Given the description of an element on the screen output the (x, y) to click on. 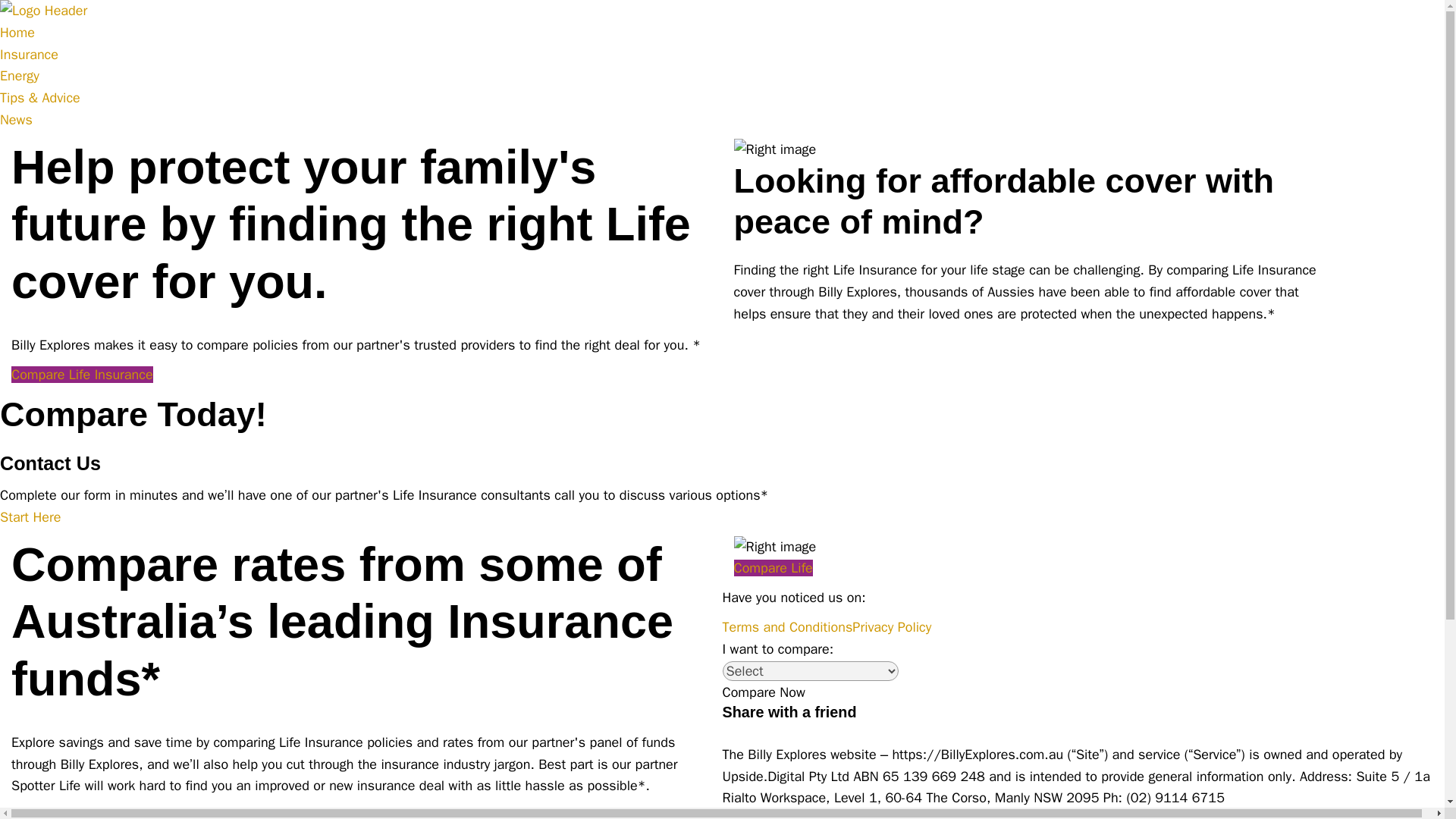
Terms and Conditions (786, 627)
Compare Now (763, 692)
News (16, 119)
Energy (19, 75)
Compare Life Insurance (81, 374)
Home (17, 32)
Start Here (30, 516)
Insurance (29, 54)
Privacy Policy (891, 627)
Compare Life (772, 567)
